Given the description of an element on the screen output the (x, y) to click on. 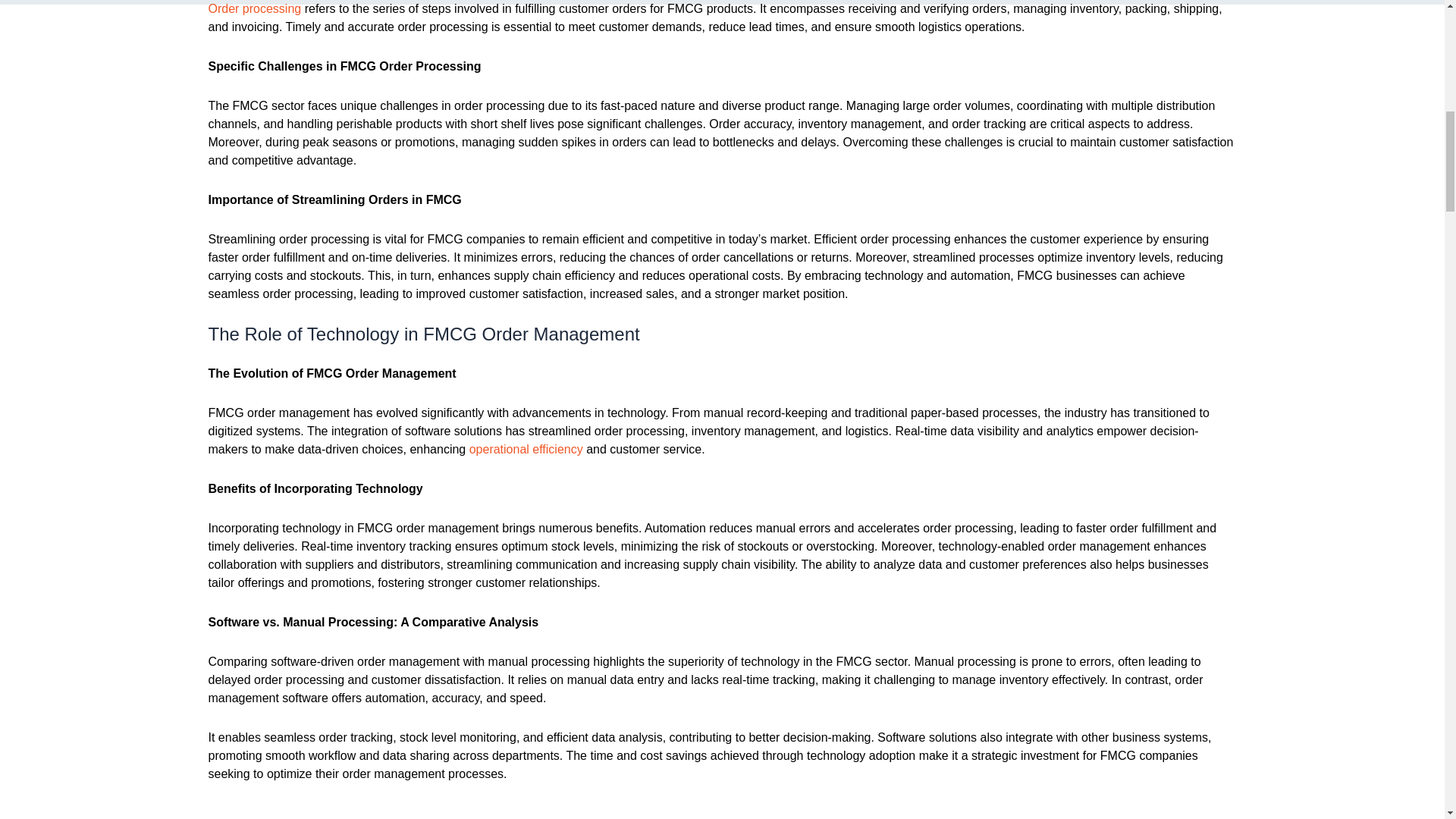
operational efficiency (525, 449)
Order processing (254, 8)
